Given the description of an element on the screen output the (x, y) to click on. 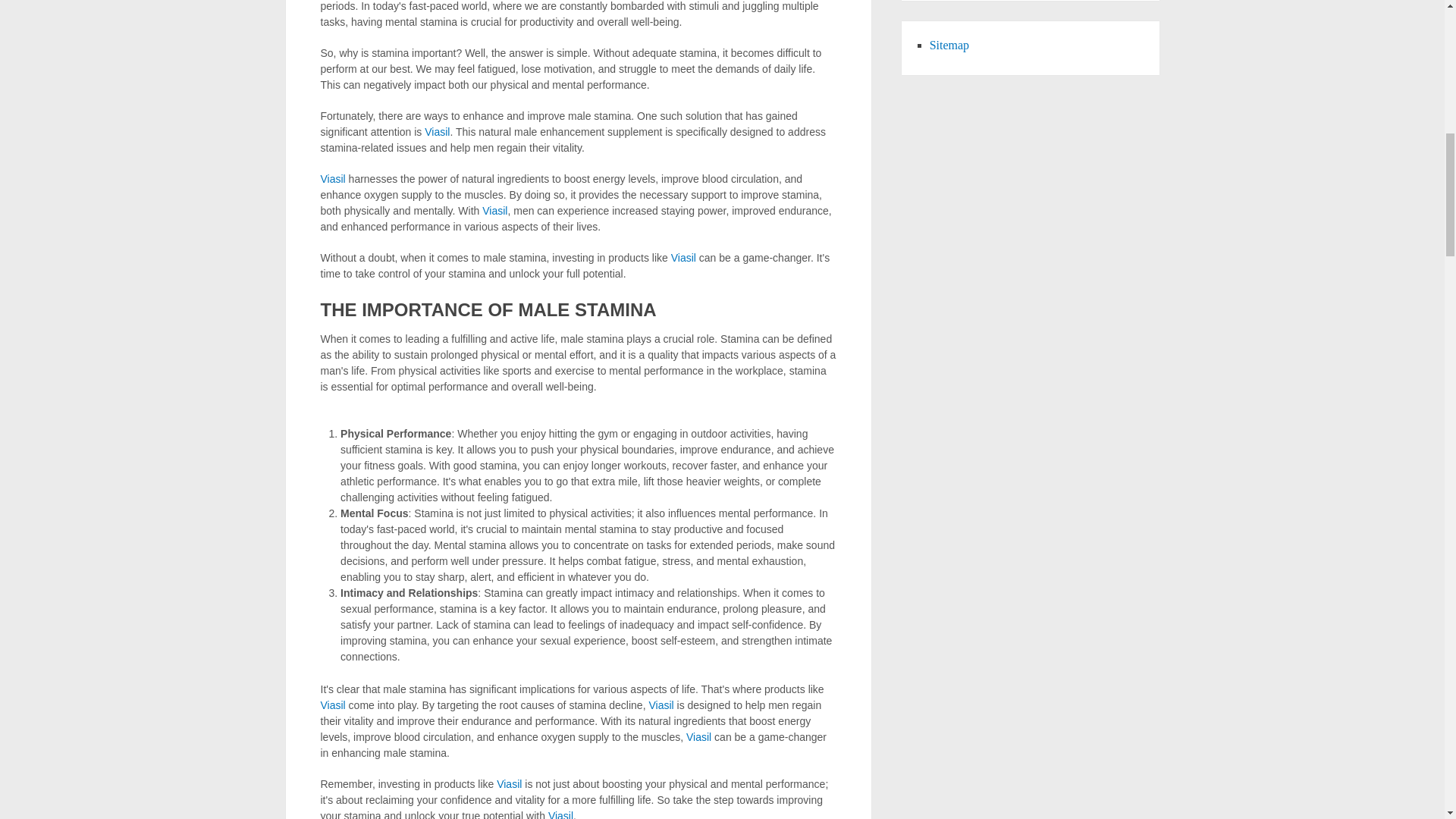
Viasil (698, 736)
Viasil (332, 705)
Viasil (683, 257)
Viasil (437, 132)
Viasil (508, 784)
Viasil (560, 814)
Viasil (332, 178)
Viasil (493, 210)
Viasil (659, 705)
